Given the description of an element on the screen output the (x, y) to click on. 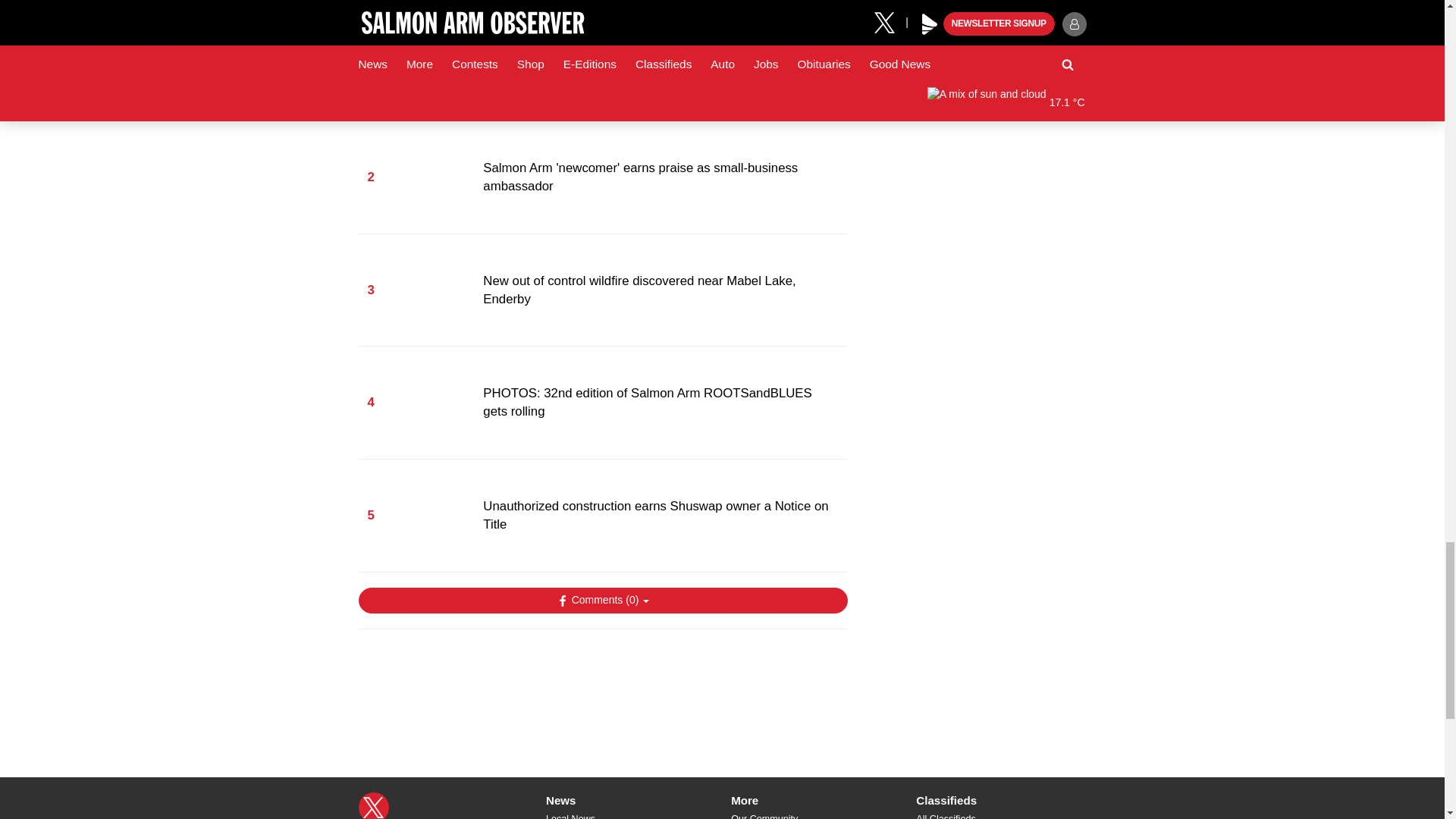
Show Comments (602, 600)
X (373, 805)
